Given the description of an element on the screen output the (x, y) to click on. 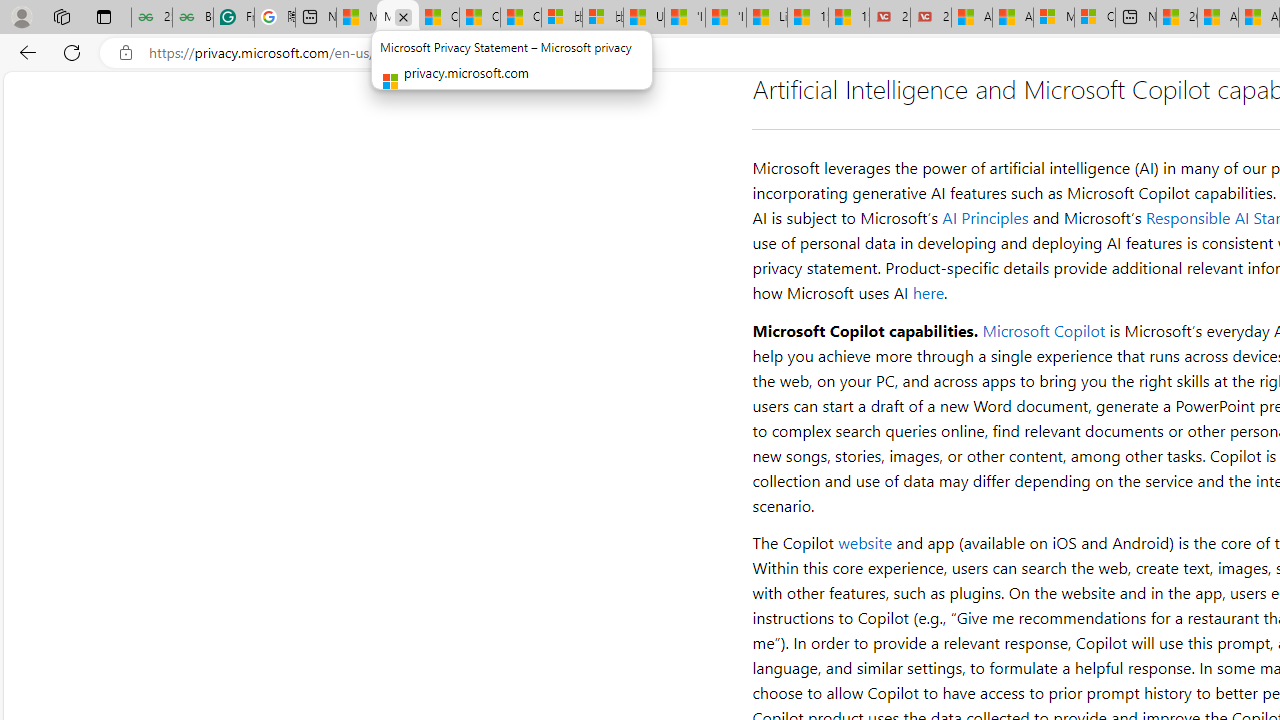
15 Ways Modern Life Contradicts the Teachings of Jesus (849, 17)
25 Basic Linux Commands For Beginners - GeeksforGeeks (151, 17)
Lifestyle - MSN (767, 17)
Microsoft Copilot (1043, 329)
